Given the description of an element on the screen output the (x, y) to click on. 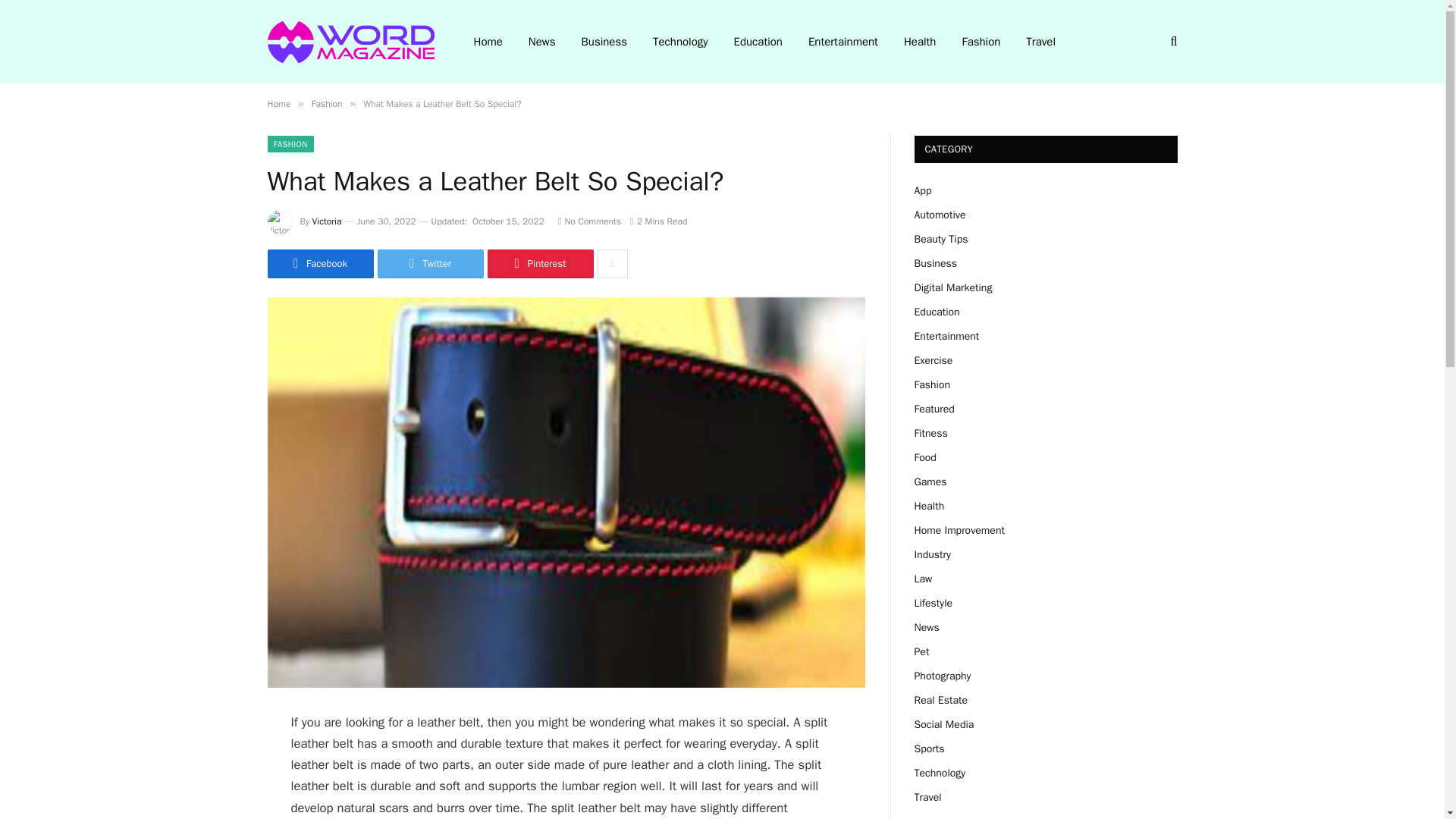
Posts by Victoria (327, 221)
Share on Pinterest (539, 263)
Share on Facebook (319, 263)
No Comments (589, 221)
Fashion (326, 103)
Twitter (430, 263)
Education (757, 41)
Home (277, 103)
Show More Social Sharing (611, 263)
Entertainment (842, 41)
Wordmagazine.net (349, 41)
Victoria (327, 221)
Technology (680, 41)
FASHION (289, 143)
